Given the description of an element on the screen output the (x, y) to click on. 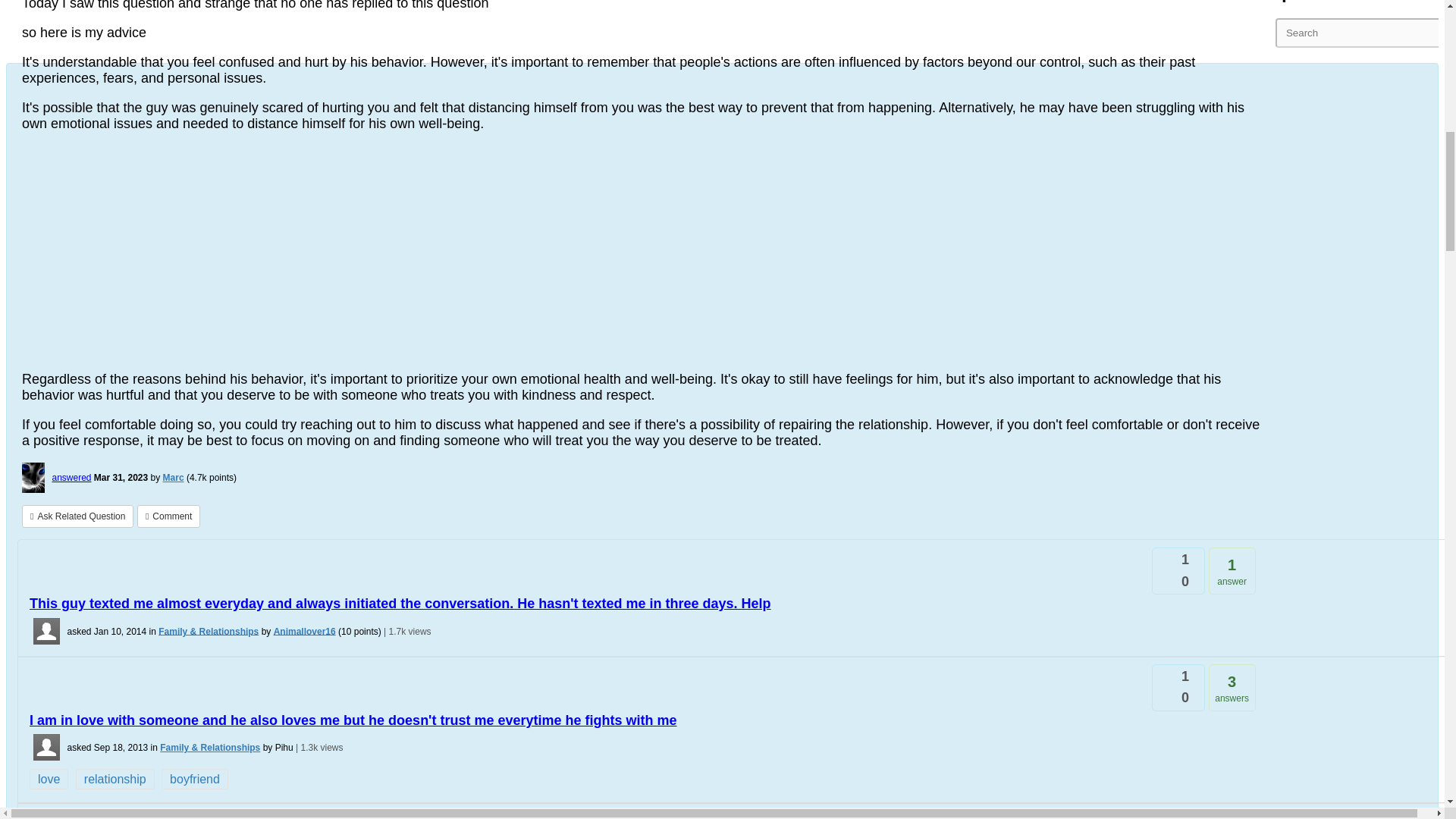
Ask a new question relating to this answer (77, 516)
Click to vote up (1159, 673)
Add a comment on this answer (168, 516)
Click to vote up (1159, 556)
Click to vote down (1159, 701)
Click to vote down (1159, 584)
